Given the description of an element on the screen output the (x, y) to click on. 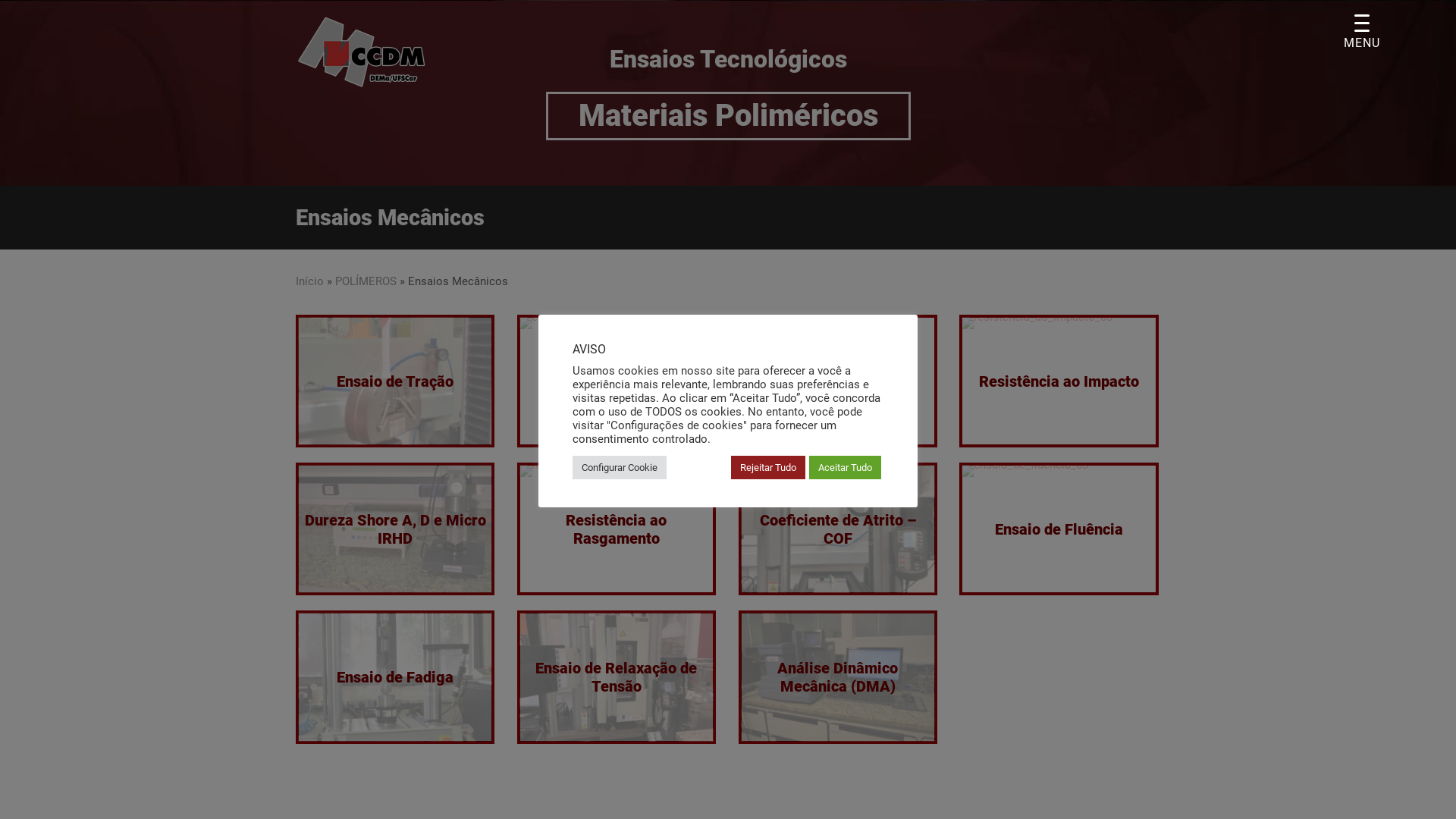
Ensaio de Fadiga Element type: text (394, 677)
Configurar Cookie Element type: text (619, 467)
Rejeitar Tudo Element type: text (768, 467)
Dureza Shore A, D e Micro IRHD Element type: text (395, 529)
Aceitar Tudo Element type: text (845, 467)
MENU Element type: text (1362, 32)
